Given the description of an element on the screen output the (x, y) to click on. 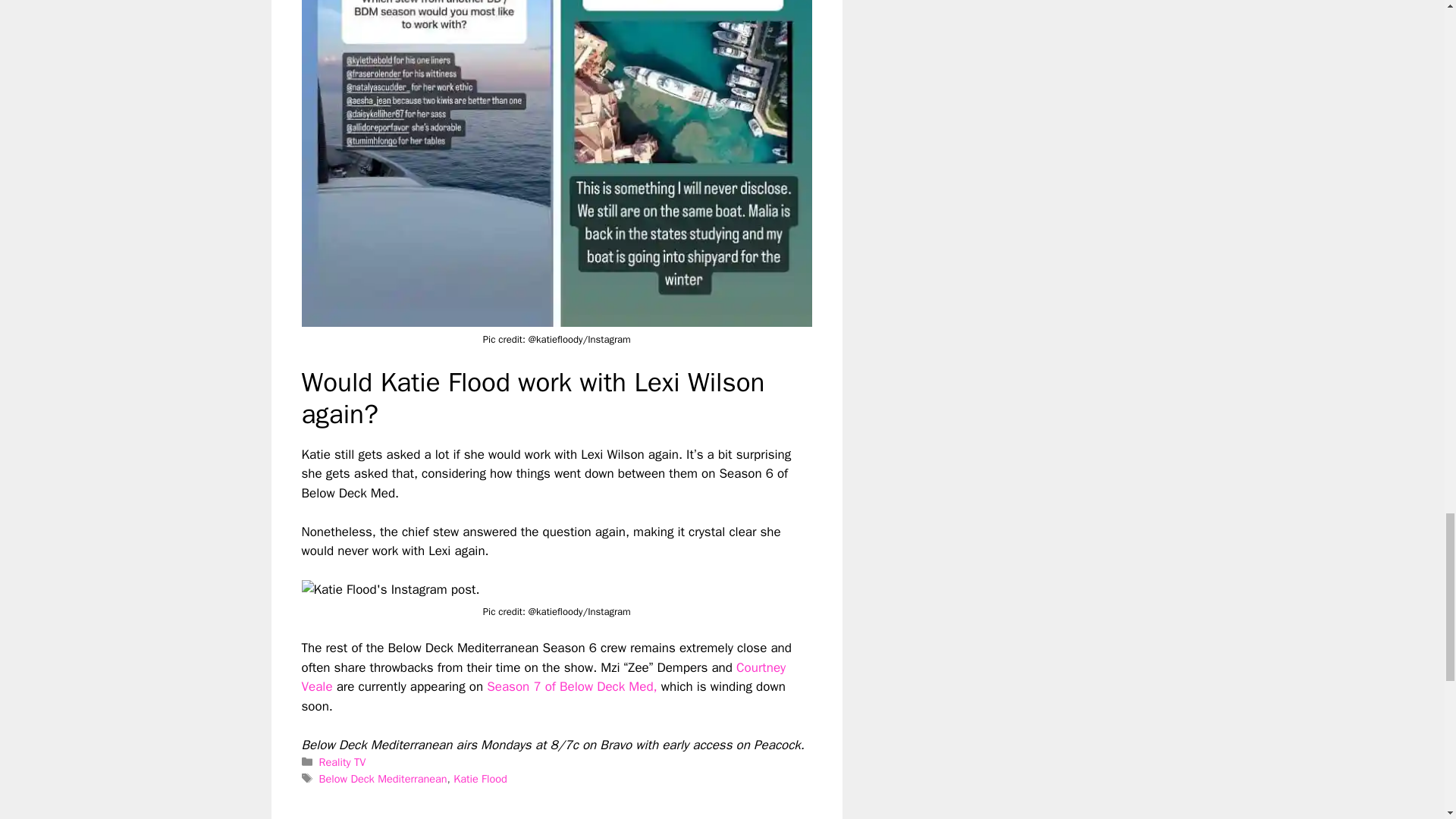
Katie Flood (479, 778)
Courtney Veale (543, 677)
Below Deck Mediterranean (382, 778)
Reality TV (342, 762)
Login (793, 818)
Season 7 of Below Deck Med, (573, 686)
